Given the description of an element on the screen output the (x, y) to click on. 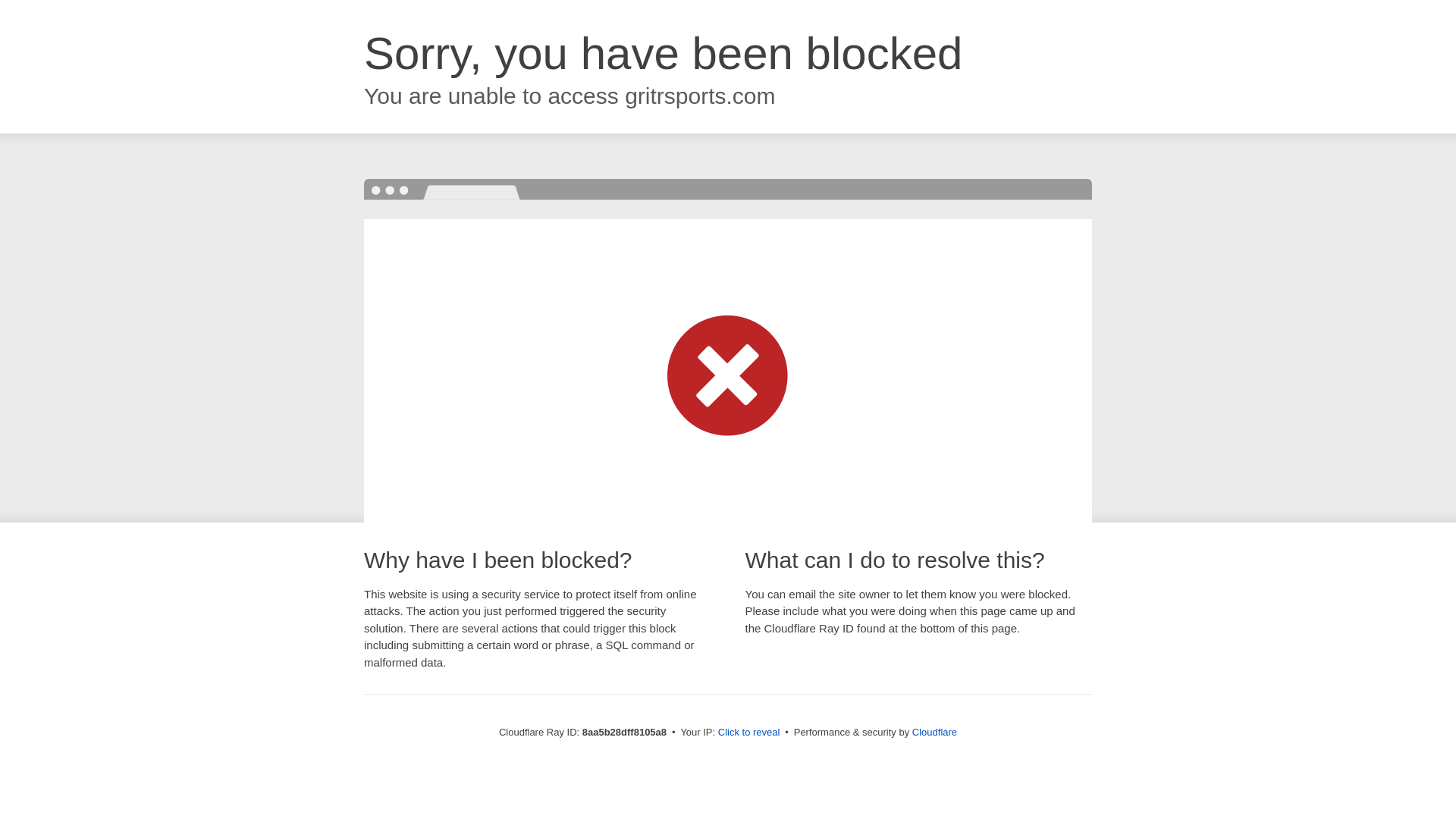
Cloudflare (934, 731)
Click to reveal (748, 732)
